Given the description of an element on the screen output the (x, y) to click on. 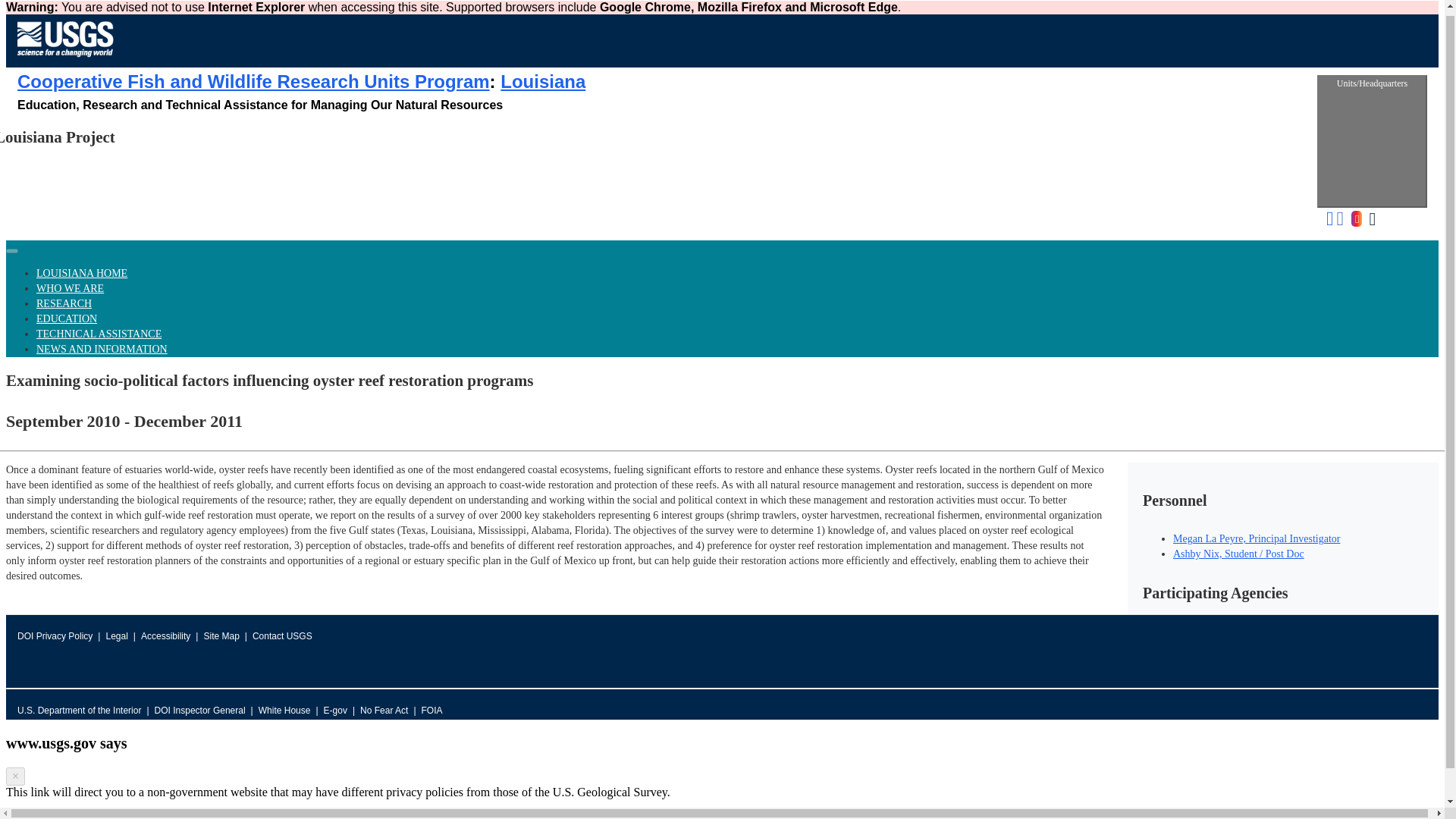
Home (65, 60)
